Given the description of an element on the screen output the (x, y) to click on. 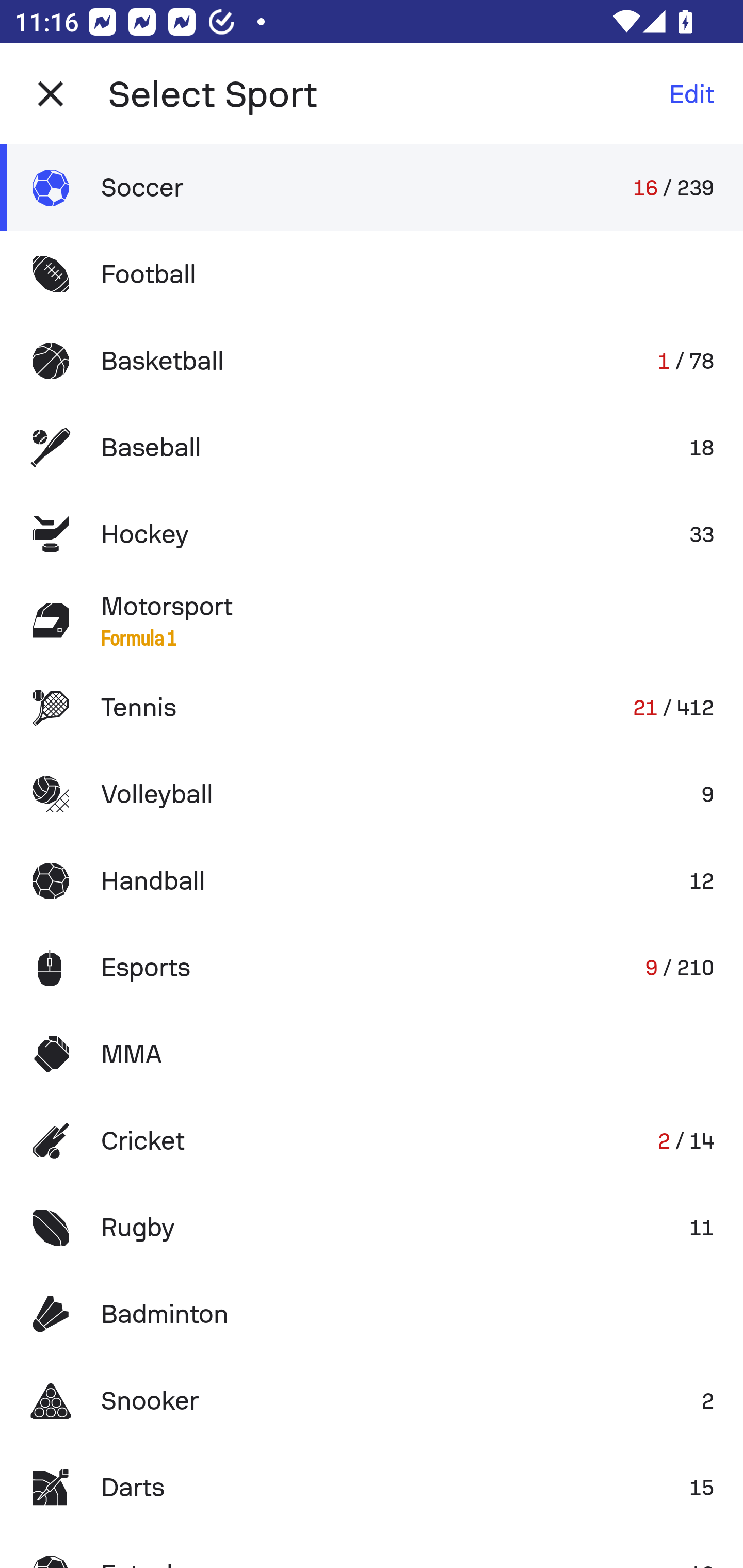
Edit (691, 93)
Soccer 16 / 239 (371, 187)
Football (371, 274)
Basketball 1 / 78 (371, 361)
Baseball 18 (371, 447)
Hockey 33 (371, 533)
Motorsport Formula 1 (371, 620)
Tennis 21 / 412 (371, 707)
Volleyball 9 (371, 794)
Handball 12 (371, 880)
Esports 9 / 210 (371, 967)
MMA (371, 1054)
Cricket 2 / 14 (371, 1140)
Rugby 11 (371, 1227)
Badminton (371, 1314)
Snooker 2 (371, 1400)
Darts 15 (371, 1487)
